Given the description of an element on the screen output the (x, y) to click on. 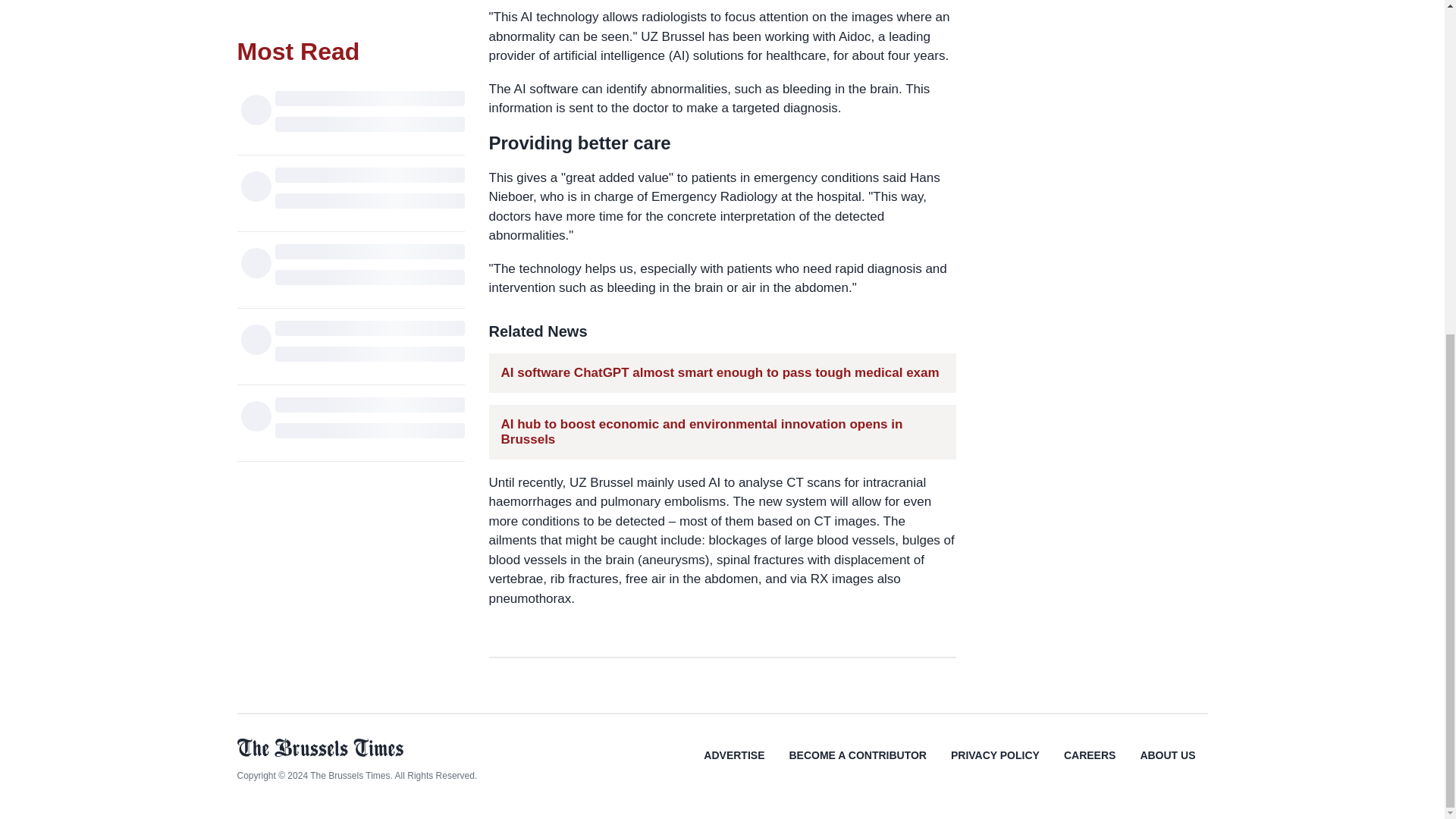
ABOUT US (1166, 766)
PRIVACY POLICY (995, 766)
ADVERTISE (733, 766)
BECOME A CONTRIBUTOR (856, 766)
CAREERS (1088, 766)
